Given the description of an element on the screen output the (x, y) to click on. 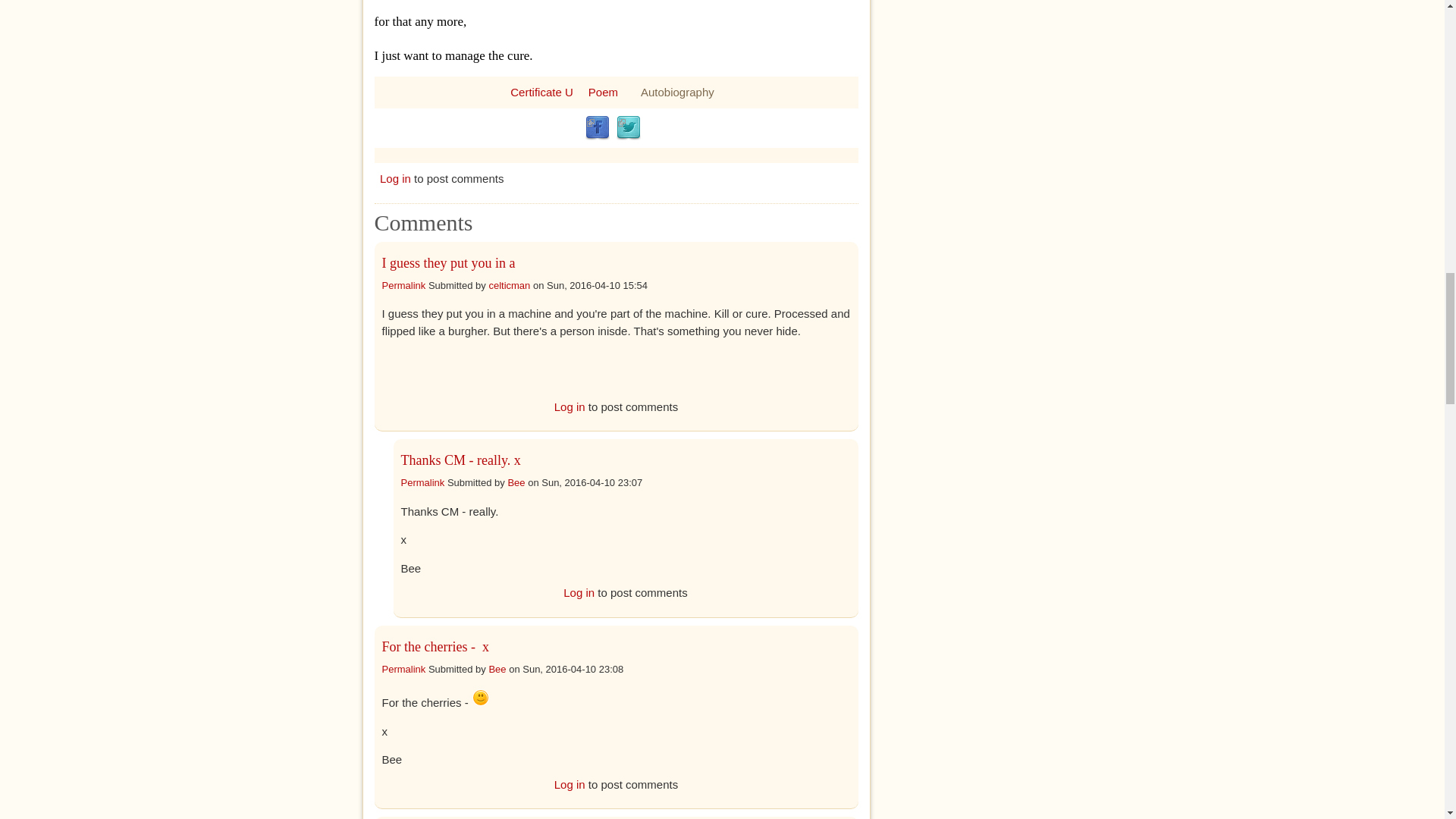
Bee (496, 668)
Certificate U (542, 91)
Facebook (597, 128)
View user profile. (515, 482)
Log in (578, 592)
Log in (395, 178)
Permalink (403, 284)
View user profile. (496, 668)
Twitter (627, 128)
Autobiography (677, 91)
Bee (515, 482)
For the cherries -  x (435, 645)
Facebook (597, 128)
Twitter (627, 128)
Log in (569, 406)
